Given the description of an element on the screen output the (x, y) to click on. 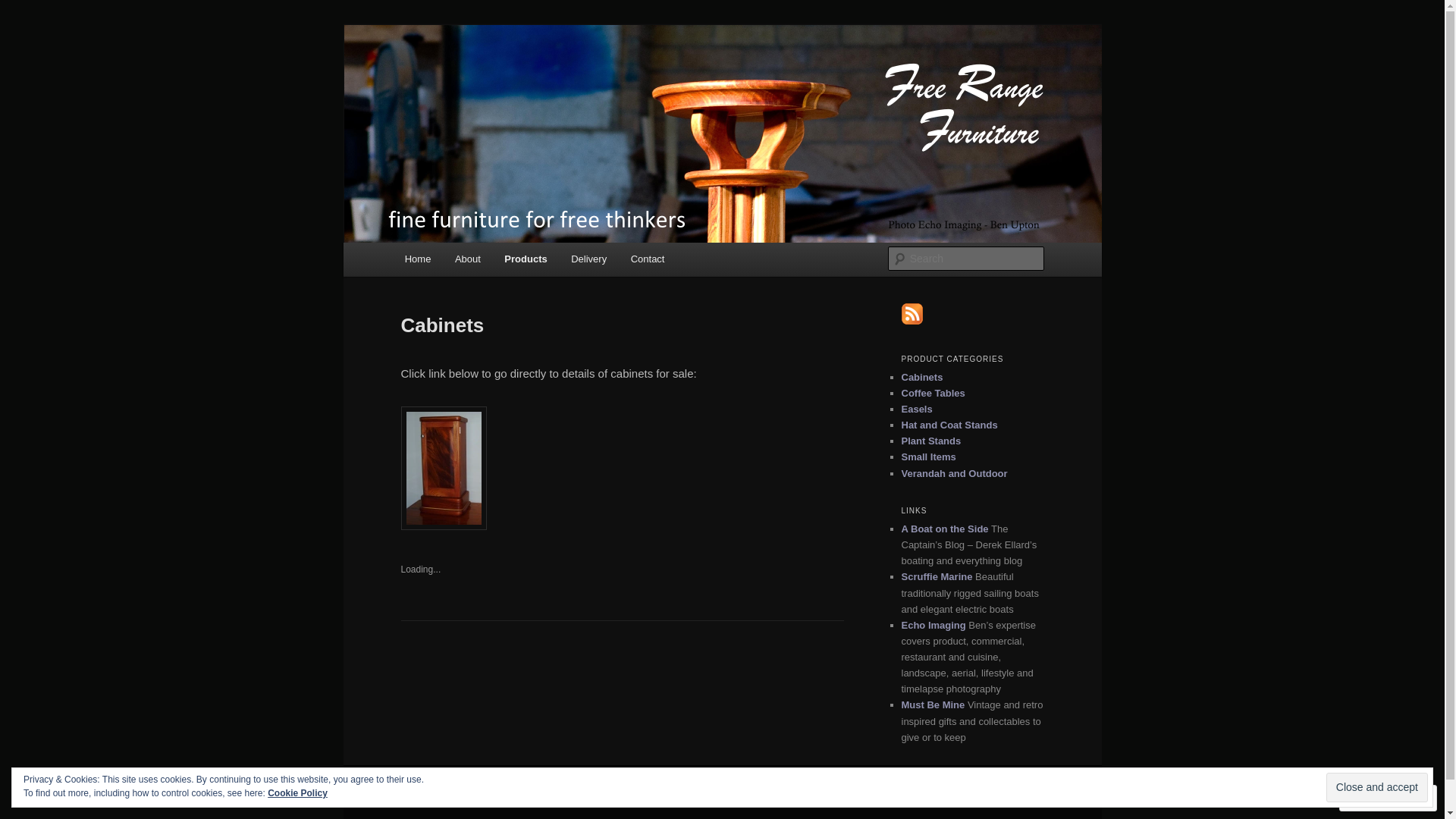
Verandah and Outdoor Element type: text (953, 473)
Cookie Policy Element type: text (297, 792)
Hat and Coat Stands Element type: text (948, 424)
About Element type: text (467, 258)
Products Element type: text (525, 258)
Must Be Mine Element type: text (932, 704)
Cabinets Element type: text (921, 376)
Echo Imaging Element type: text (932, 624)
Delivery Element type: text (588, 258)
Follow Element type: text (1373, 797)
Coffee Tables Element type: text (932, 392)
freerangefurniture Element type: text (498, 78)
A Boat on the Side Element type: text (944, 528)
Small Items Element type: text (927, 456)
Contact Element type: text (647, 258)
Search Element type: text (24, 8)
Plant Stands Element type: text (930, 440)
Subscribe to Posts Element type: hover (911, 321)
Close and accept Element type: text (1376, 787)
Create a free website or blog at WordPress.com. Element type: text (621, 795)
Scruffie Marine Element type: text (936, 576)
Cedar Pedastal Cabinet Element type: hover (443, 468)
Skip to primary content Element type: text (22, 22)
Do Not Sell or Share My Personal Information Element type: text (829, 795)
Easels Element type: text (915, 408)
Home Element type: text (417, 258)
